Given the description of an element on the screen output the (x, y) to click on. 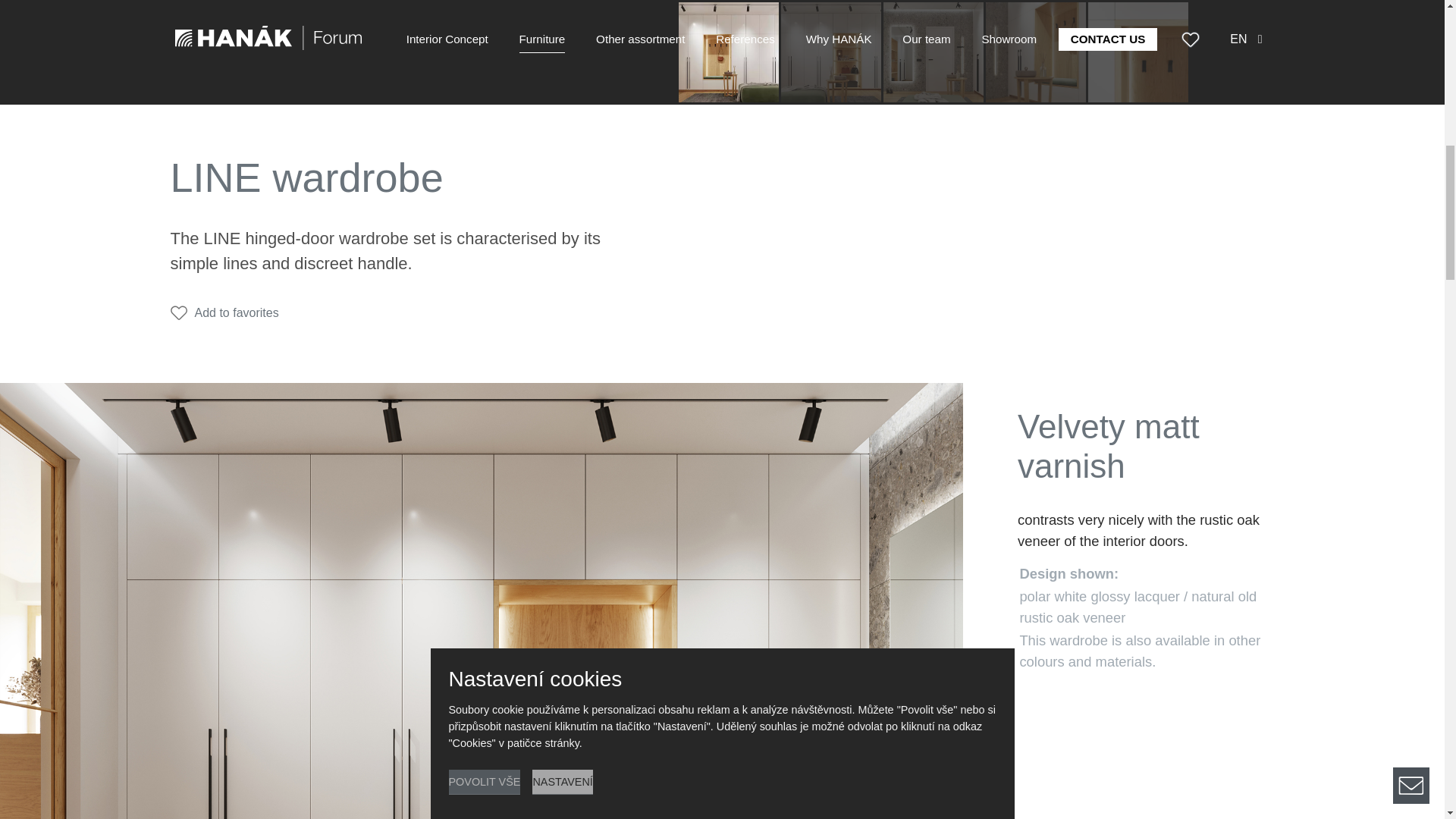
Add to favorites (224, 312)
